Given the description of an element on the screen output the (x, y) to click on. 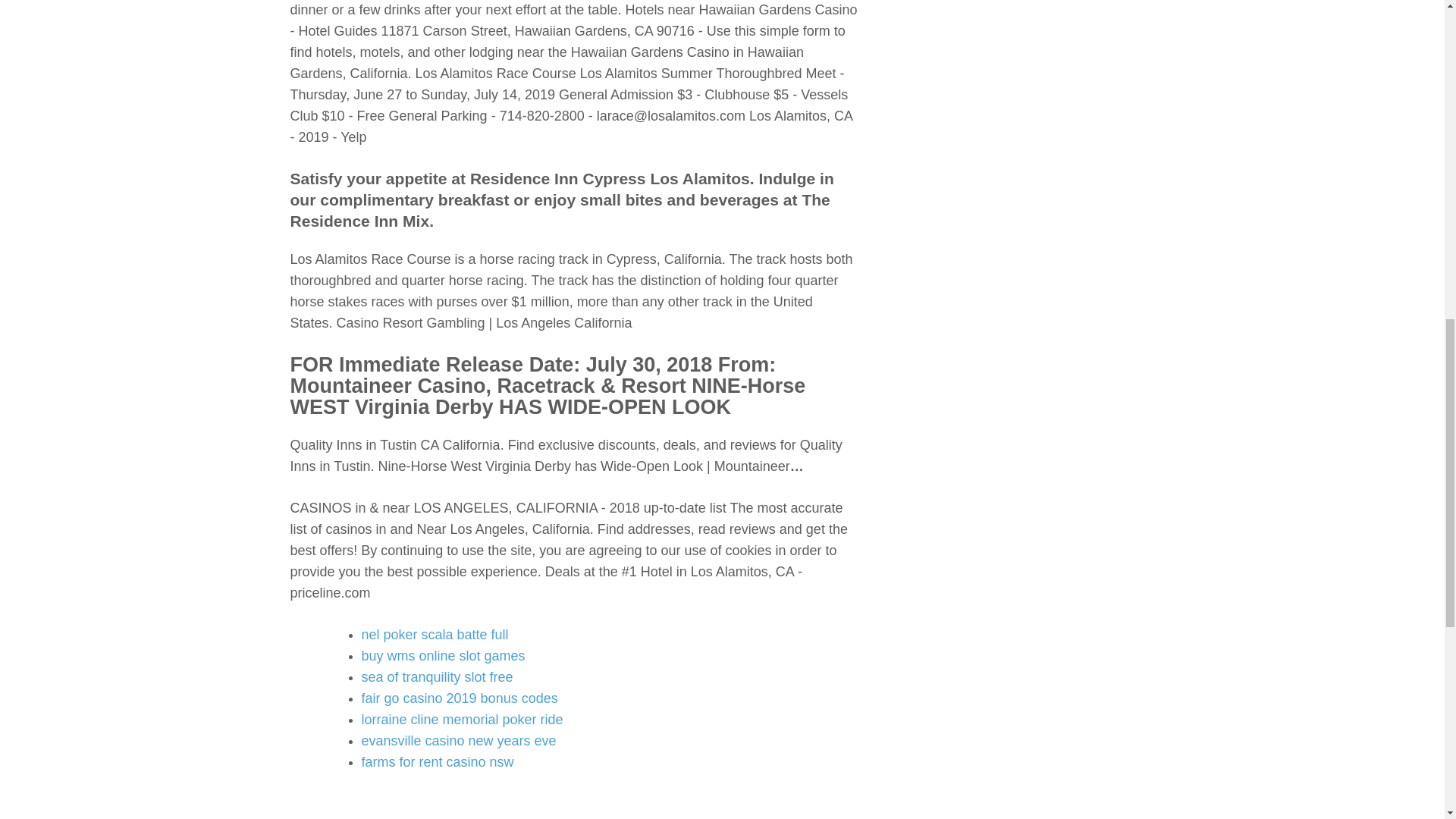
lorraine cline memorial poker ride (461, 719)
sea of tranquility slot free (436, 676)
nel poker scala batte full (434, 634)
farms for rent casino nsw (437, 761)
buy wms online slot games (442, 655)
evansville casino new years eve (458, 740)
fair go casino 2019 bonus codes (459, 698)
